Given the description of an element on the screen output the (x, y) to click on. 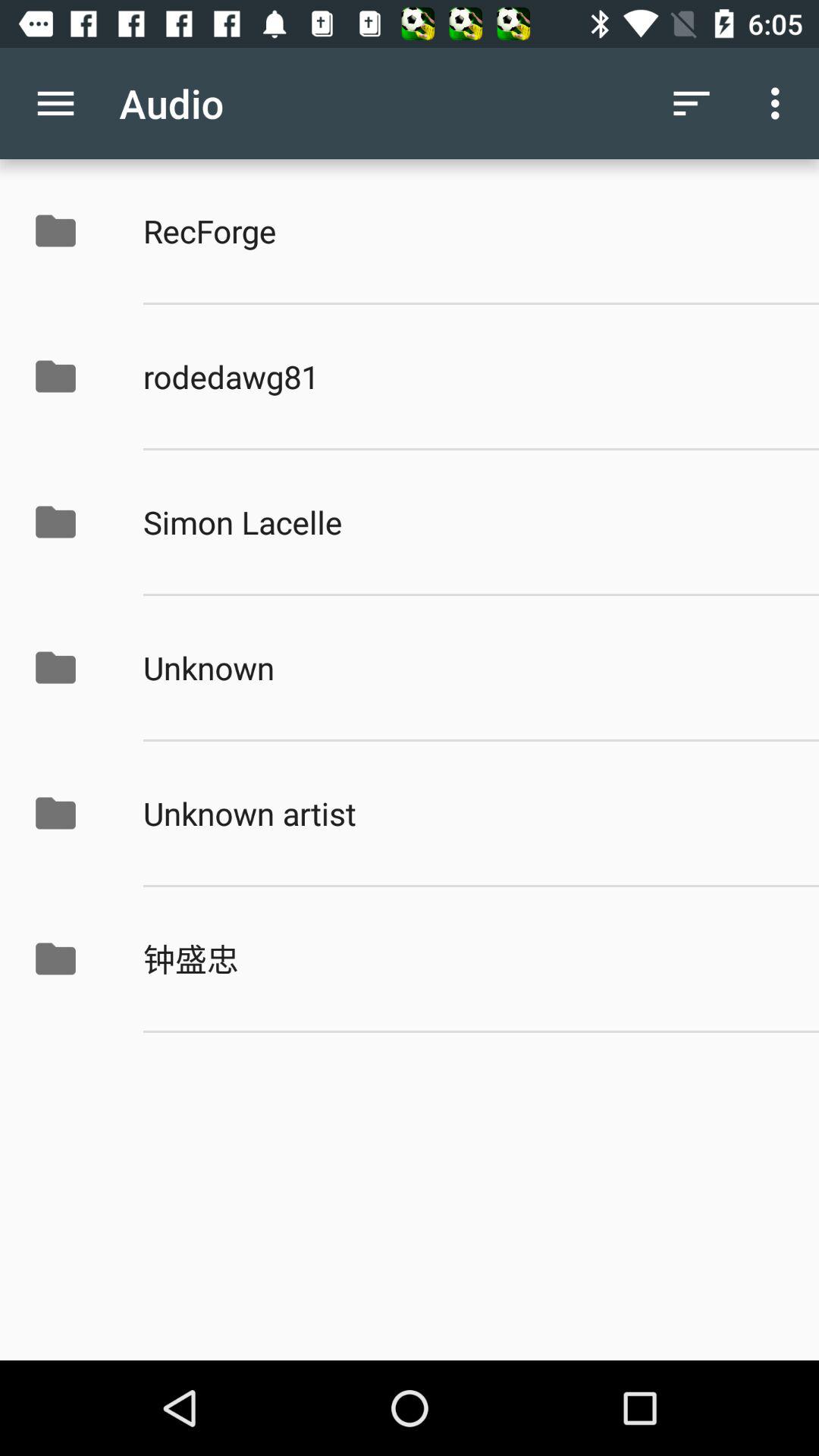
click the unknown artist icon (465, 812)
